Given the description of an element on the screen output the (x, y) to click on. 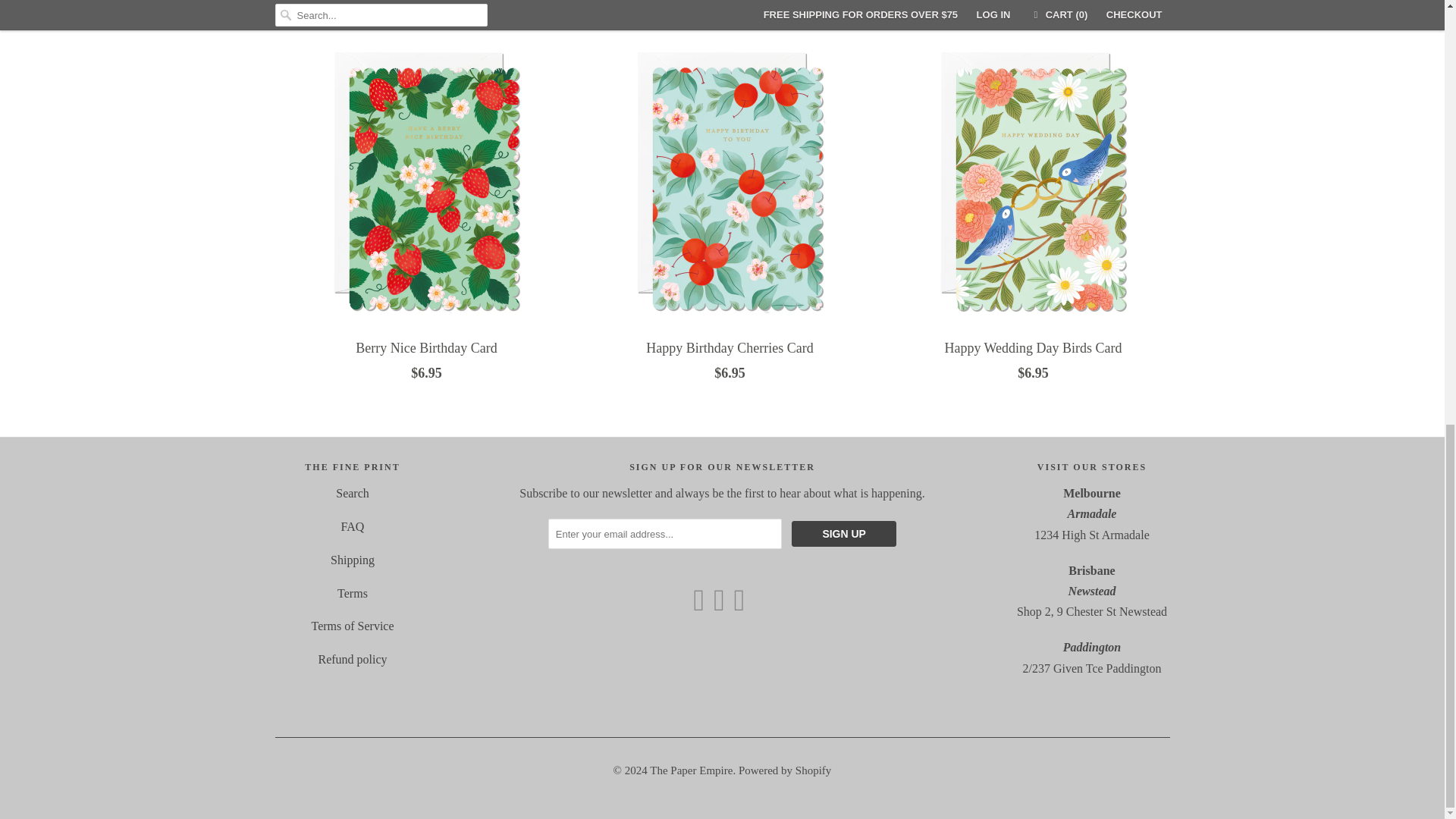
Sign Up (844, 533)
Shipping (352, 559)
FAQ (352, 526)
Search (352, 492)
Terms (352, 593)
